Given the description of an element on the screen output the (x, y) to click on. 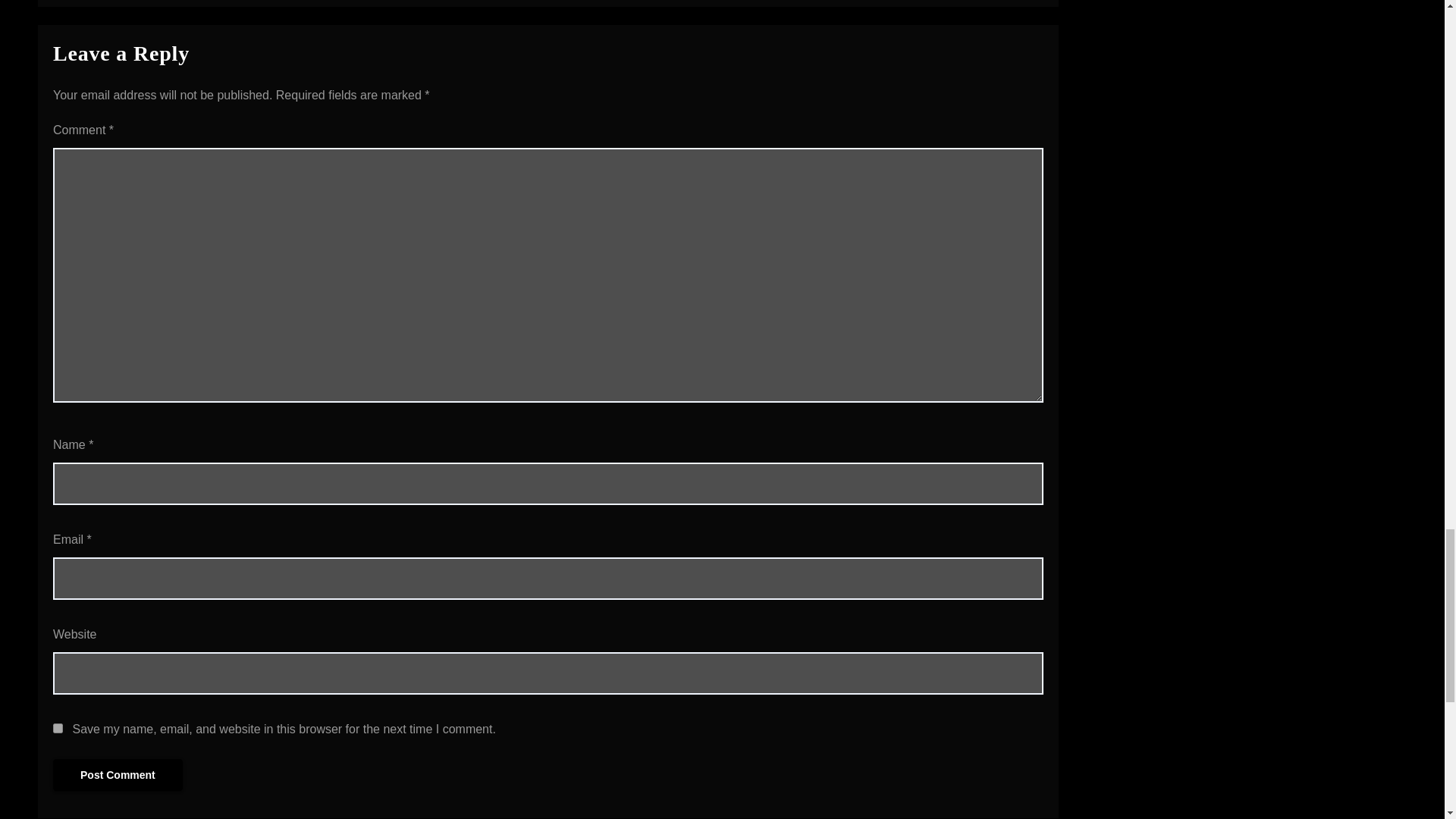
yes (57, 728)
Post Comment (117, 775)
